Given the description of an element on the screen output the (x, y) to click on. 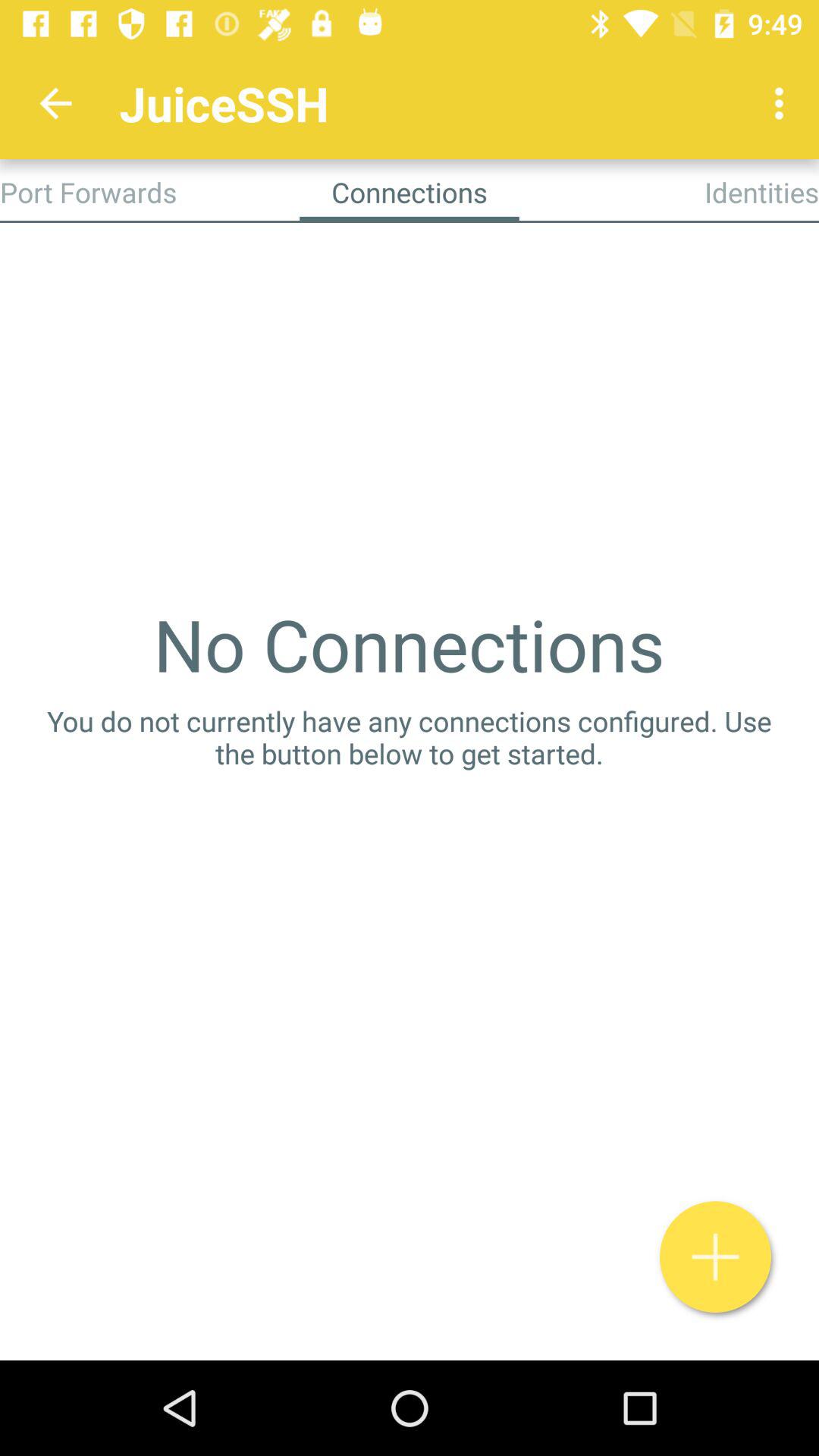
click the icon above the you do not item (408, 644)
